Given the description of an element on the screen output the (x, y) to click on. 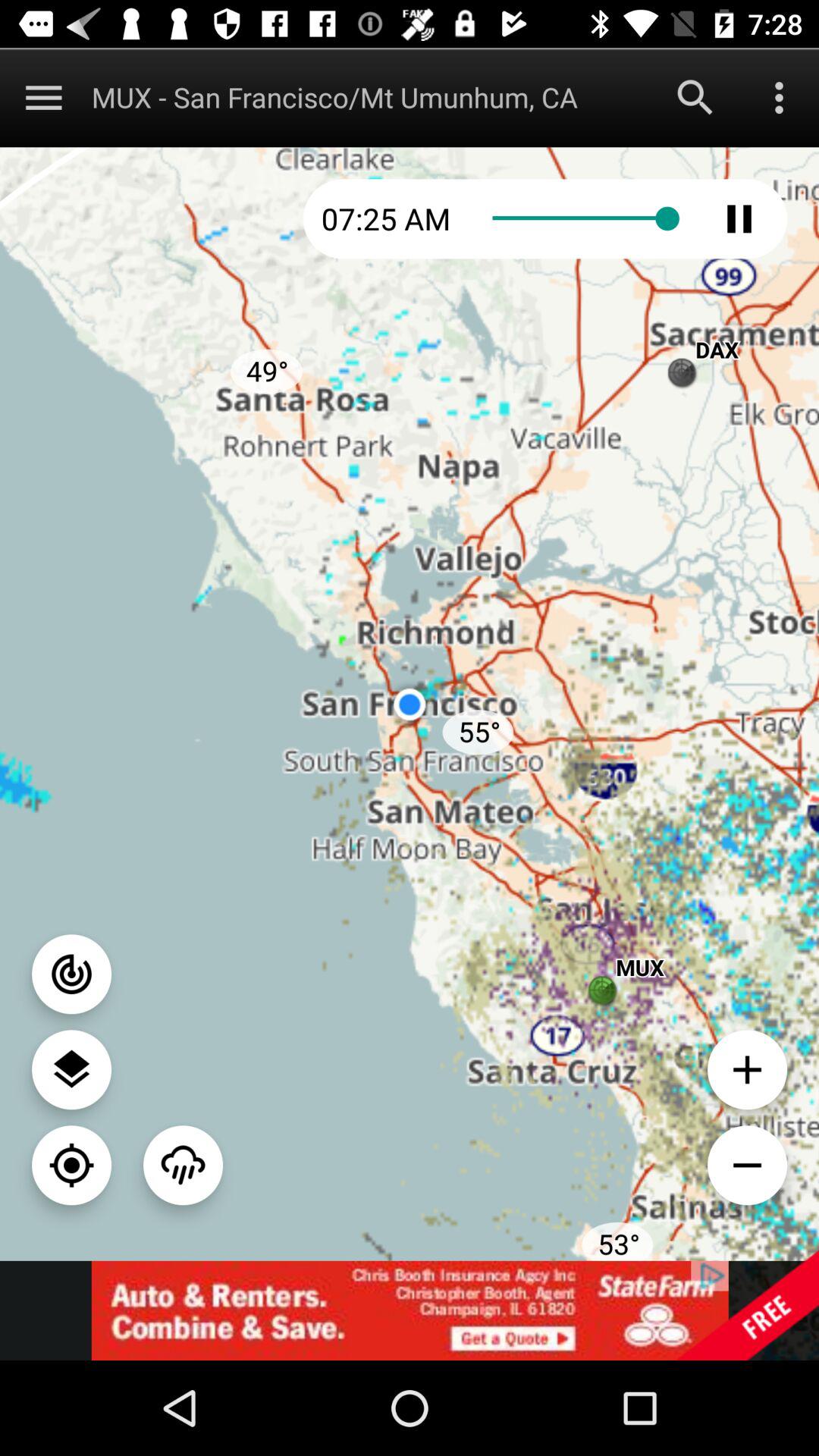
look at the menu (43, 97)
